Given the description of an element on the screen output the (x, y) to click on. 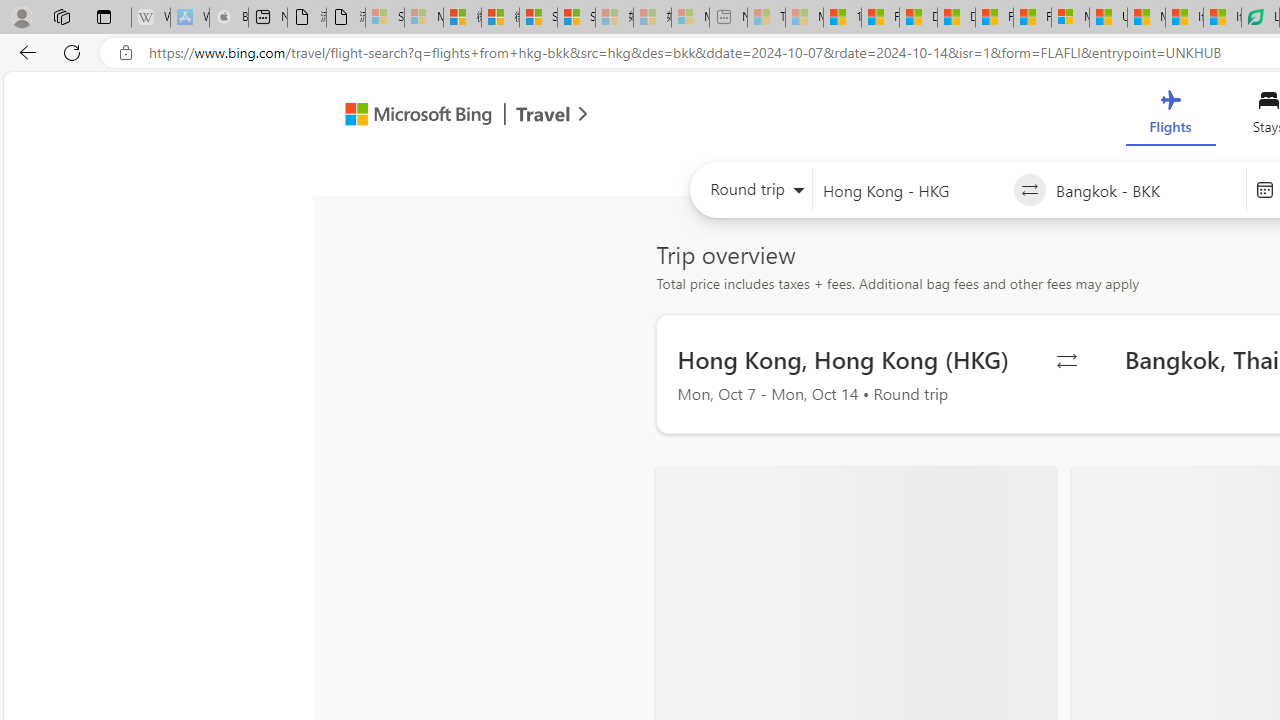
Drinking tea every day is proven to delay biological aging (956, 17)
Microsoft Bing Travel (445, 116)
Buy iPad - Apple - Sleeping (228, 17)
Microsoft account | Account Checkup - Sleeping (690, 17)
Going to? (1145, 190)
Swap source and destination (1028, 189)
Class: msft-travel-logo (543, 114)
